Given the description of an element on the screen output the (x, y) to click on. 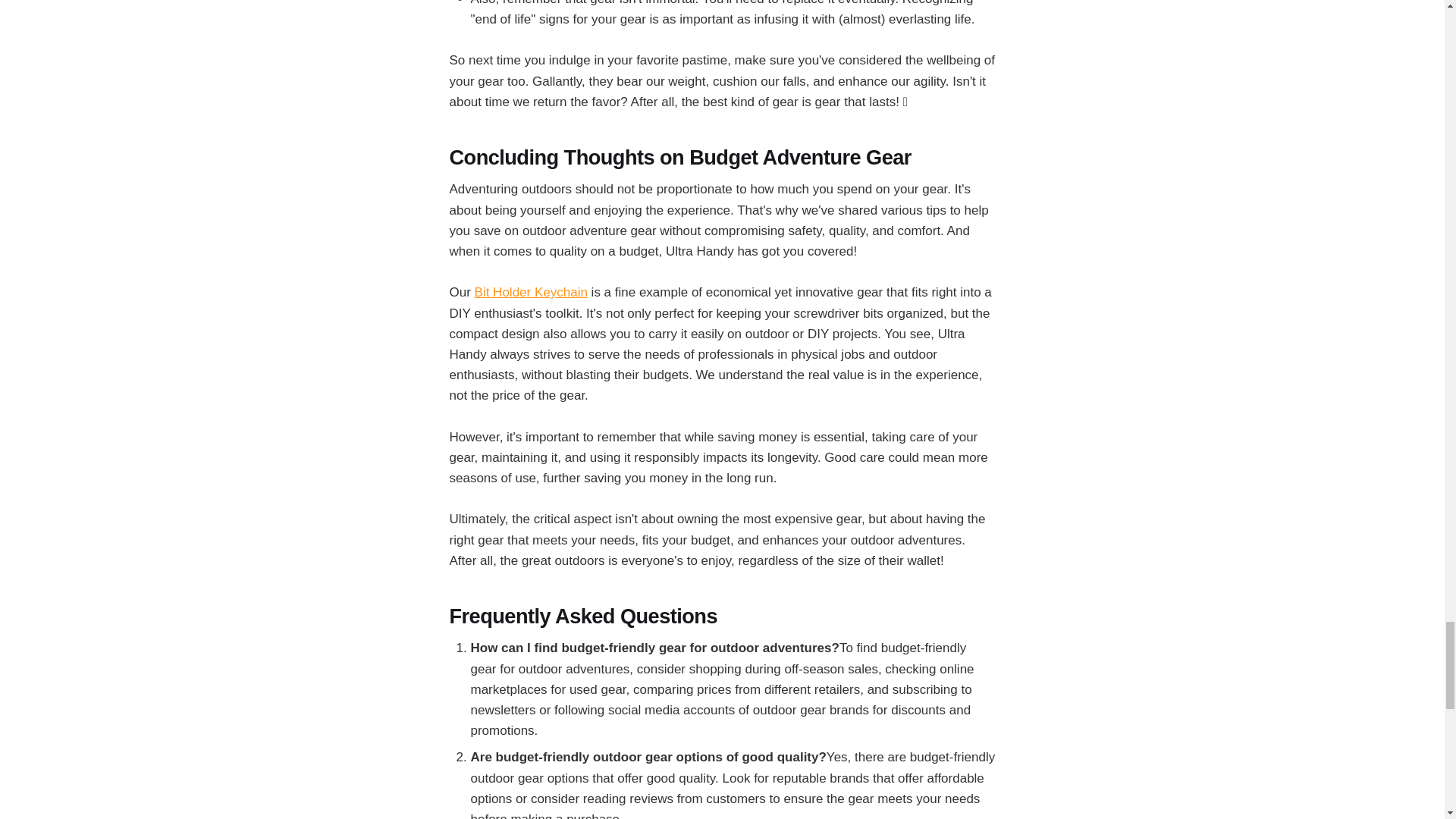
Bit Holder Keychain (531, 292)
